Given the description of an element on the screen output the (x, y) to click on. 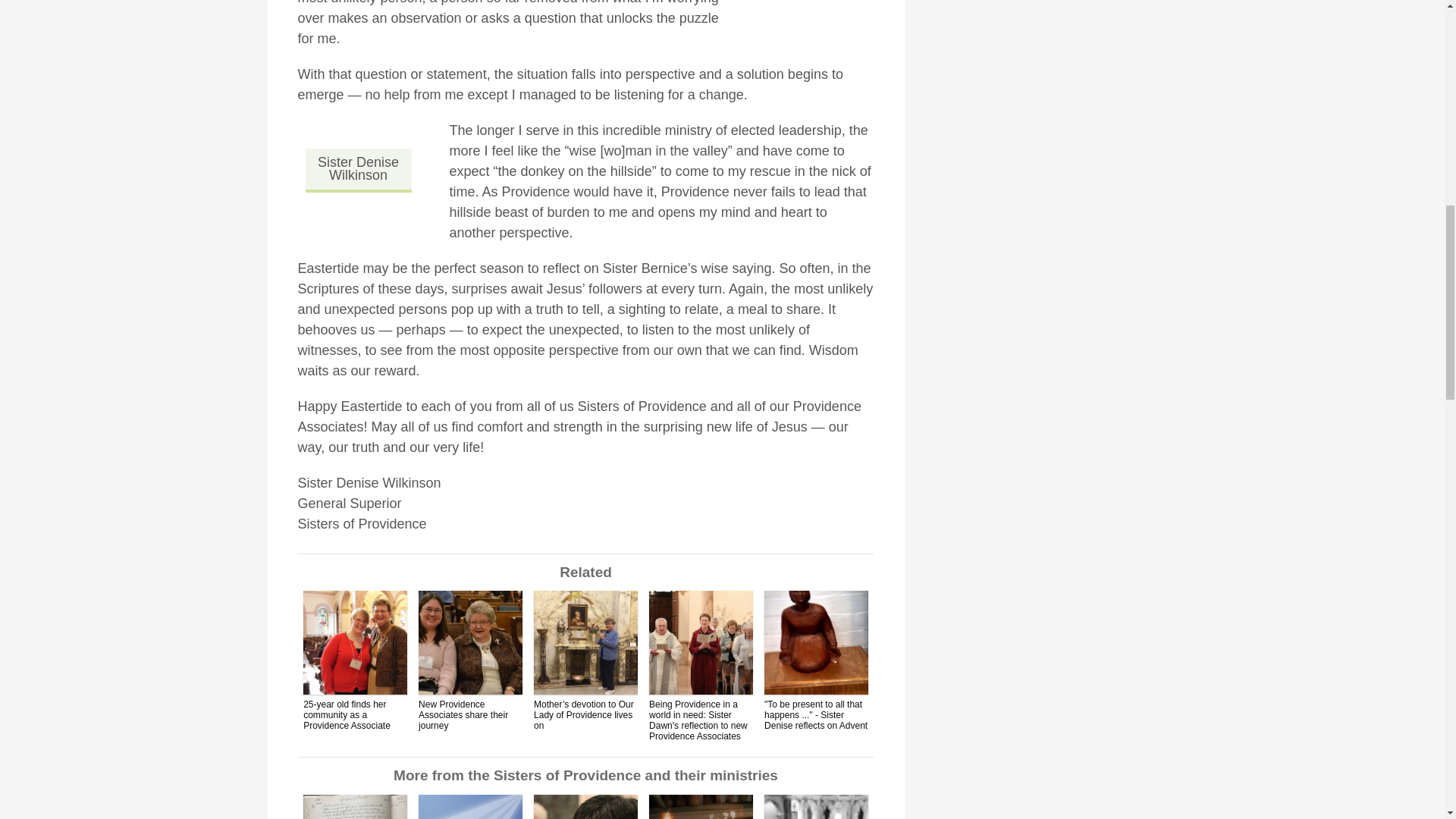
Poem: Blessed are you who bear the light (700, 806)
Wedding gown tradition (815, 806)
Transformative view of the afterlife (354, 806)
Reflections for the Silver Jubilee of Sister Evelyn Ovalles (585, 806)
Subscribe to receive new content in your inbox! (470, 806)
